Given the description of an element on the screen output the (x, y) to click on. 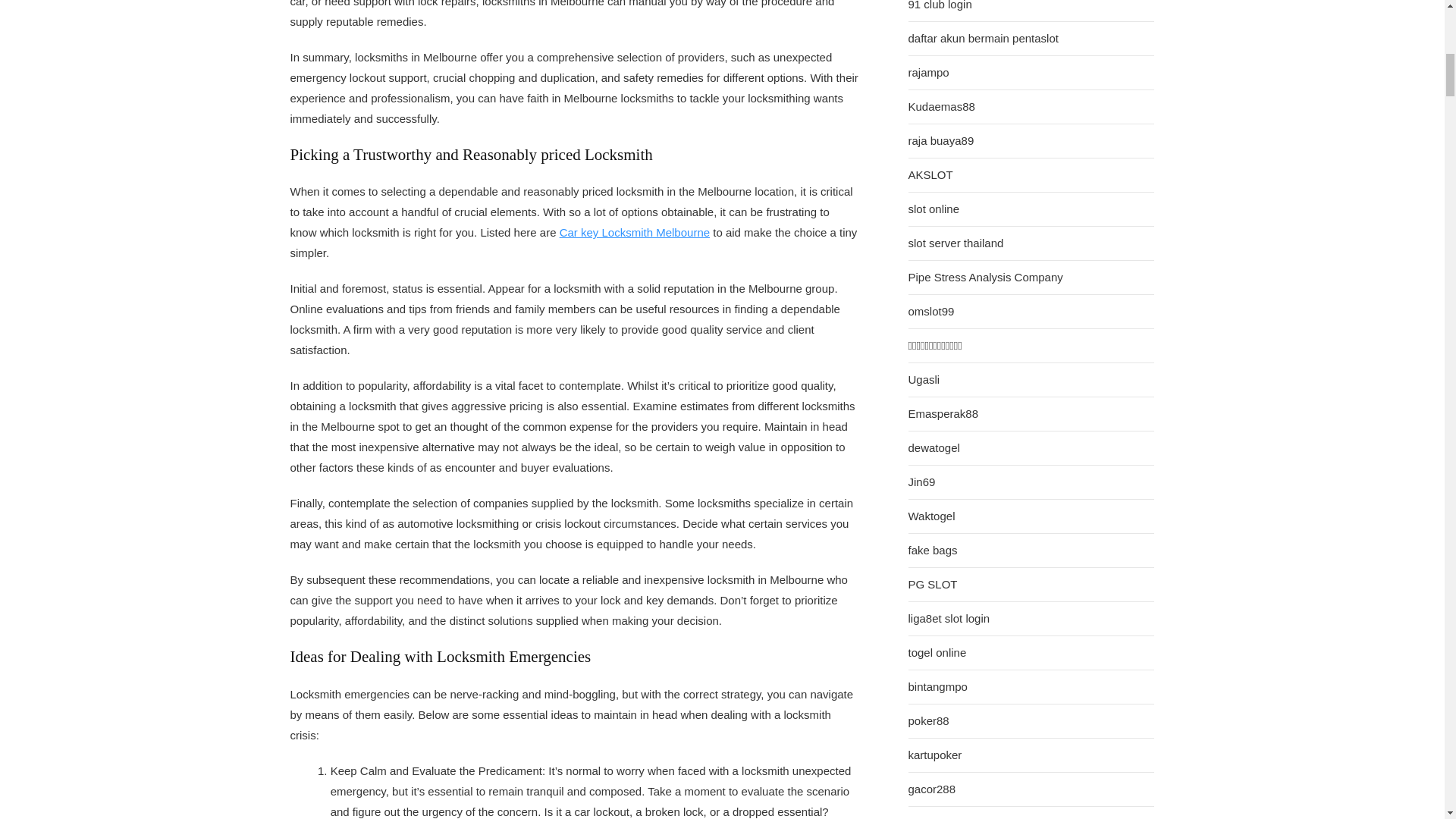
Car key Locksmith Melbourne (634, 232)
91 club login (940, 6)
